Given the description of an element on the screen output the (x, y) to click on. 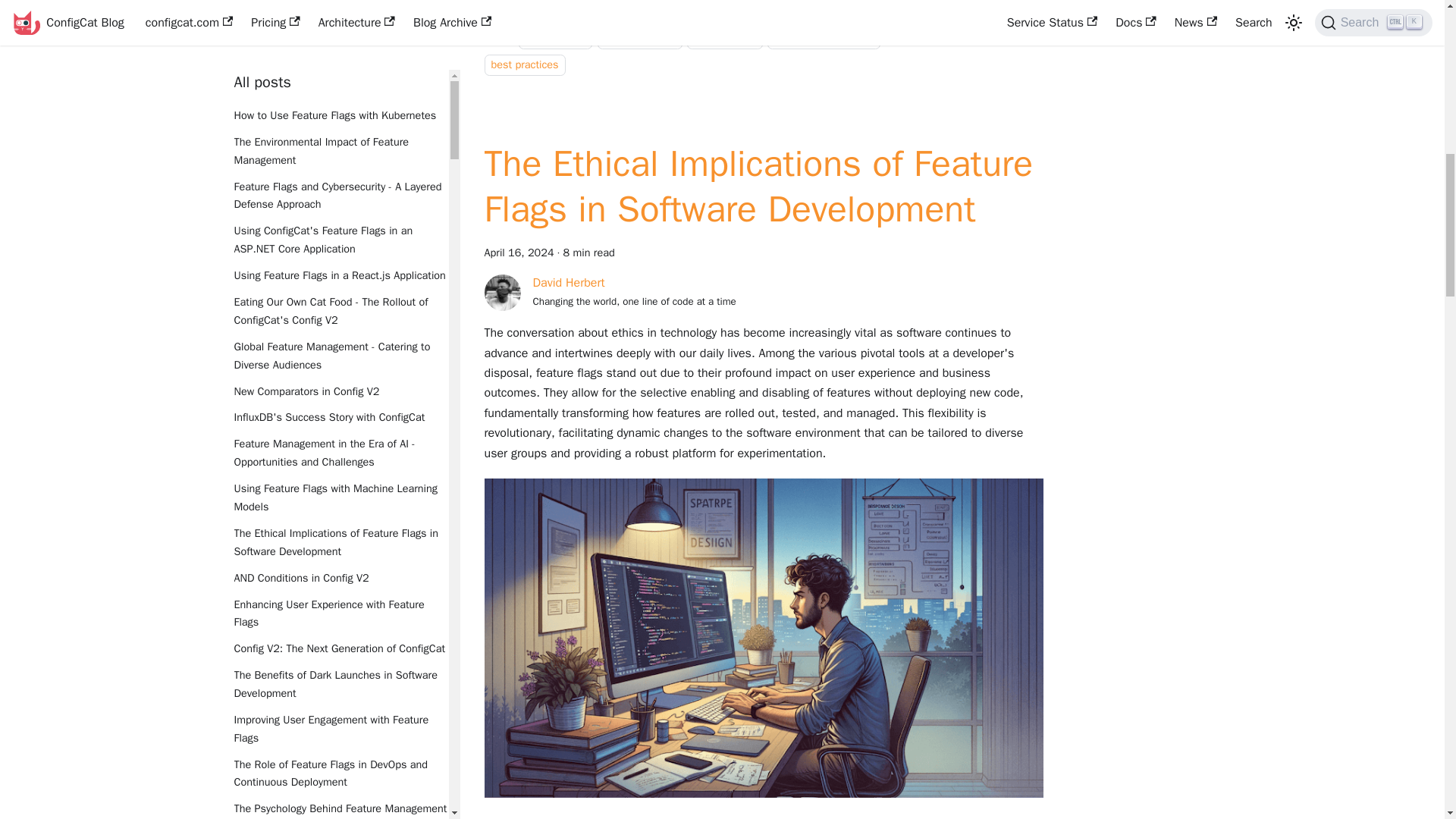
Using ConfigCat for Staged Rollouts and Canary Releases (340, 203)
Feature Flag Retirement (340, 124)
How Feature Flags Can Help You Scale Efficiently (340, 43)
Feature Flagging for Security - Best Practices and Use Cases (340, 88)
ConfigCat's New Pricing Policy (340, 239)
User Segments and Their Role in Business (340, 266)
Skipping Test Environments for Faster and Safer Deployments (340, 301)
